Given the description of an element on the screen output the (x, y) to click on. 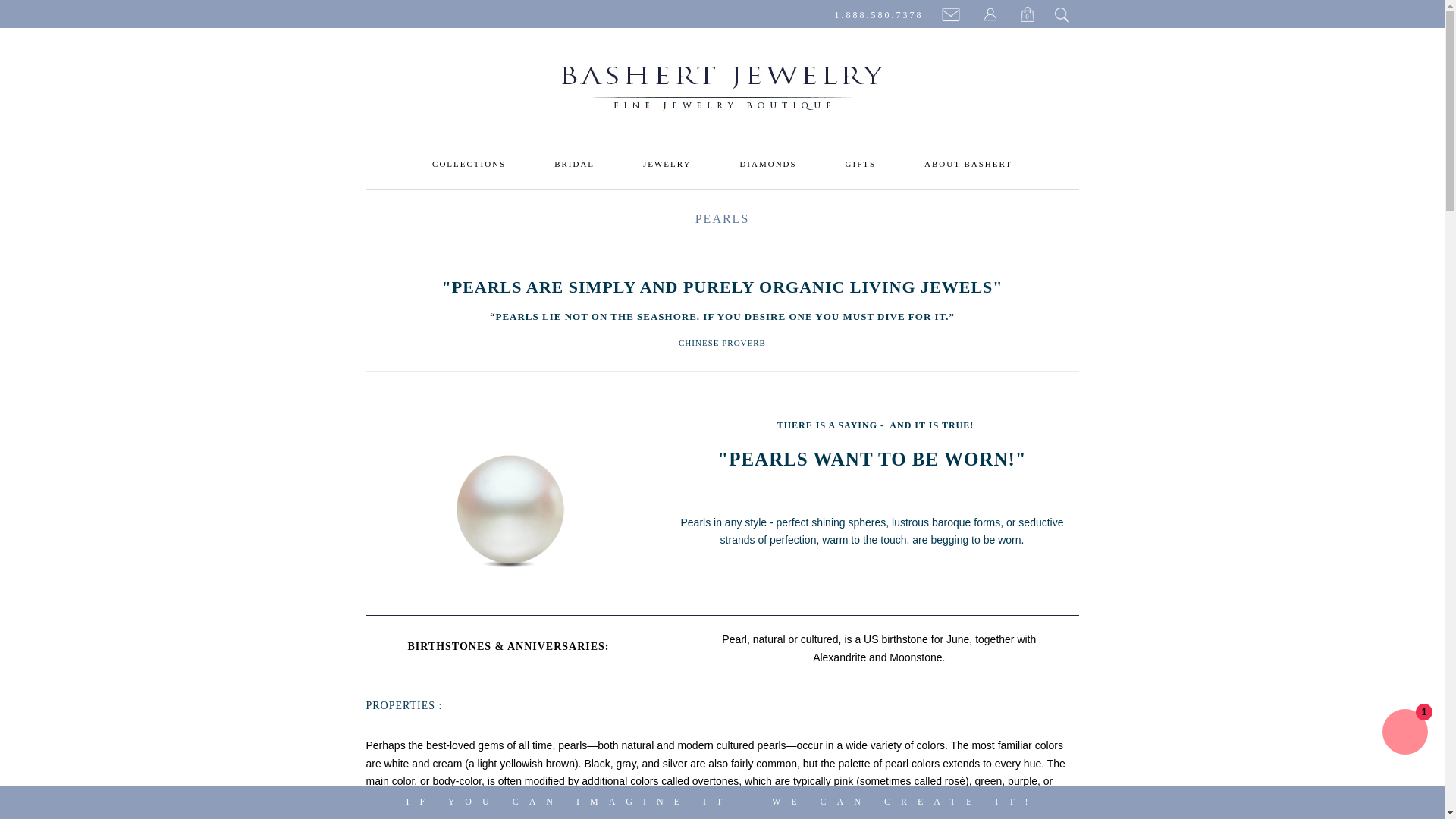
Bashert Jewelry (721, 91)
BRIDAL (574, 163)
DIAMONDS (767, 163)
COLLECTIONS (469, 163)
1.888.580.7378 (878, 15)
JEWELRY (666, 163)
Contact Us (952, 15)
